Given the description of an element on the screen output the (x, y) to click on. 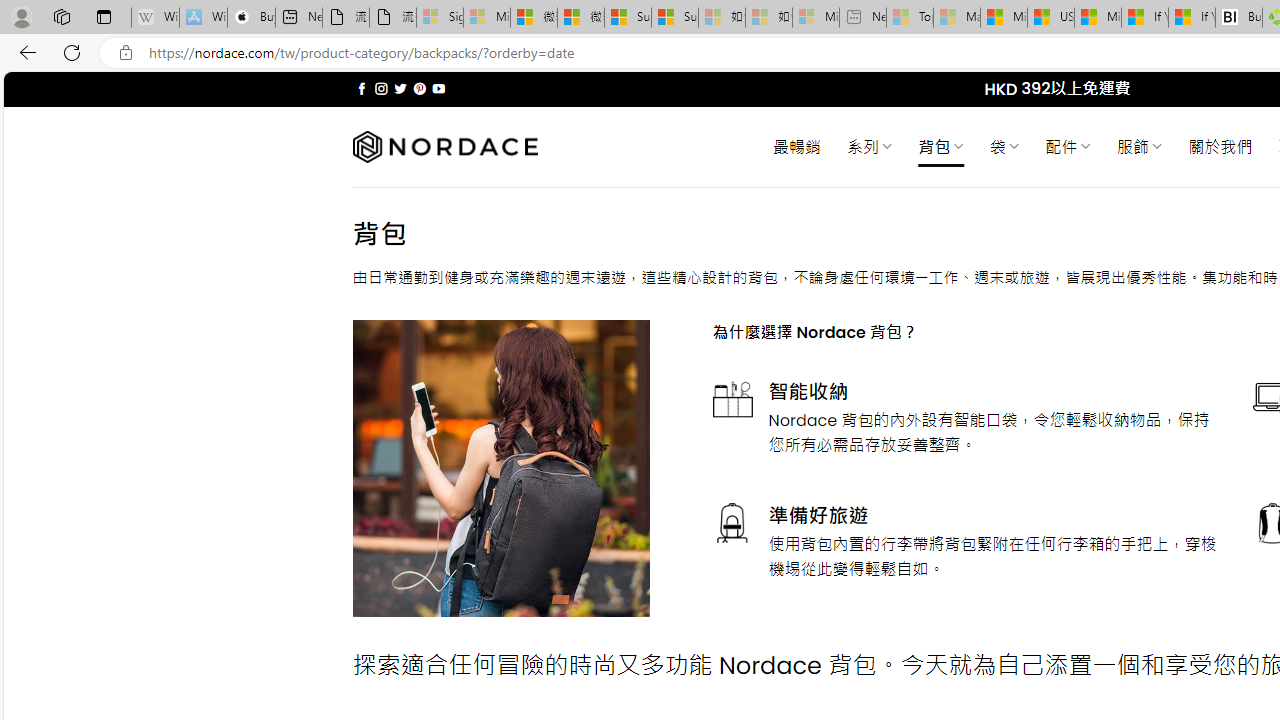
Microsoft account | Account Checkup - Sleeping (815, 17)
Marine life - MSN - Sleeping (957, 17)
Buy iPad - Apple (251, 17)
US Heat Deaths Soared To Record High Last Year (1050, 17)
Follow on Instagram (381, 88)
